Given the description of an element on the screen output the (x, y) to click on. 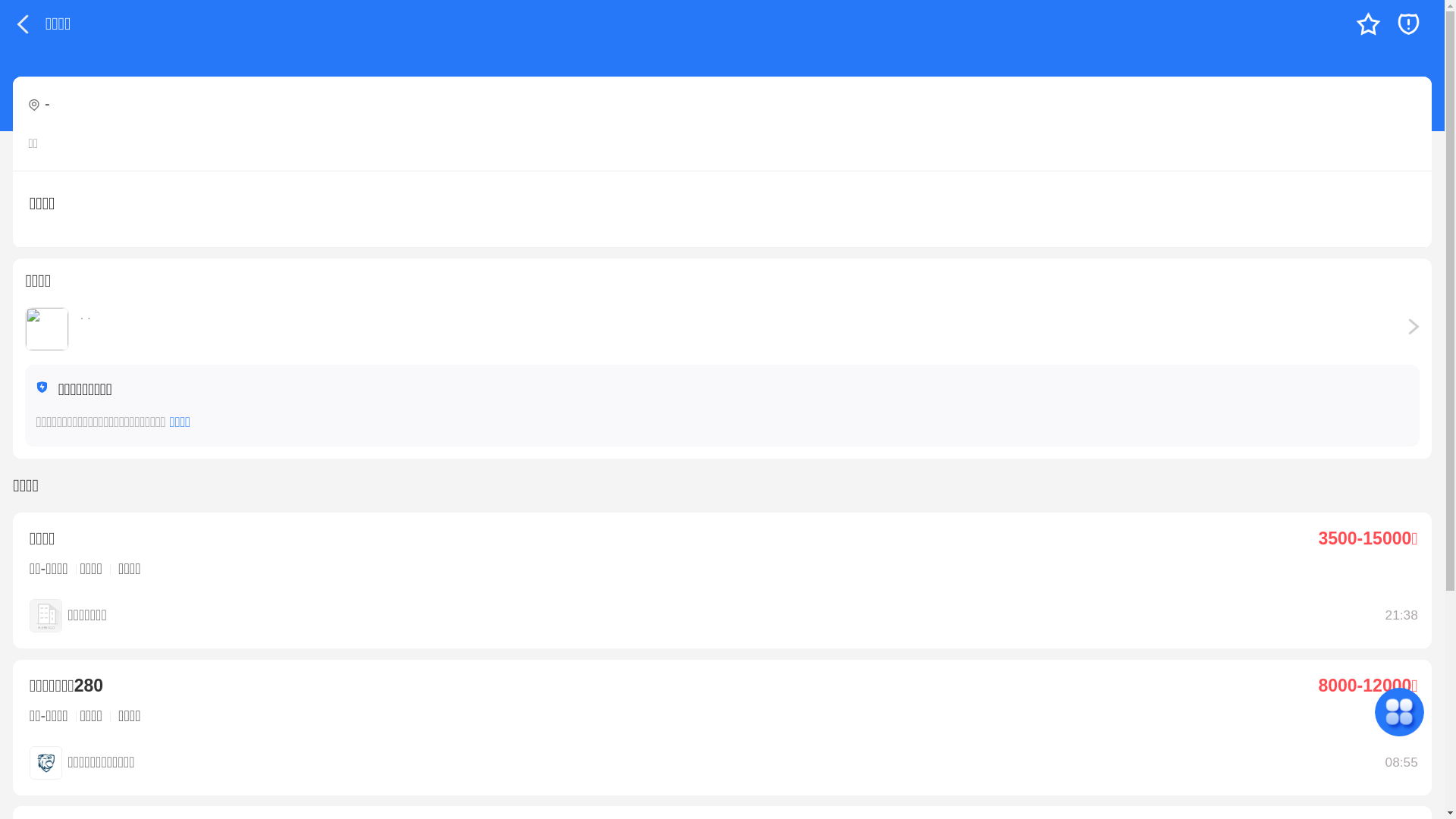
0 Element type: text (1408, 24)
0 Element type: text (1367, 24)
